Given the description of an element on the screen output the (x, y) to click on. 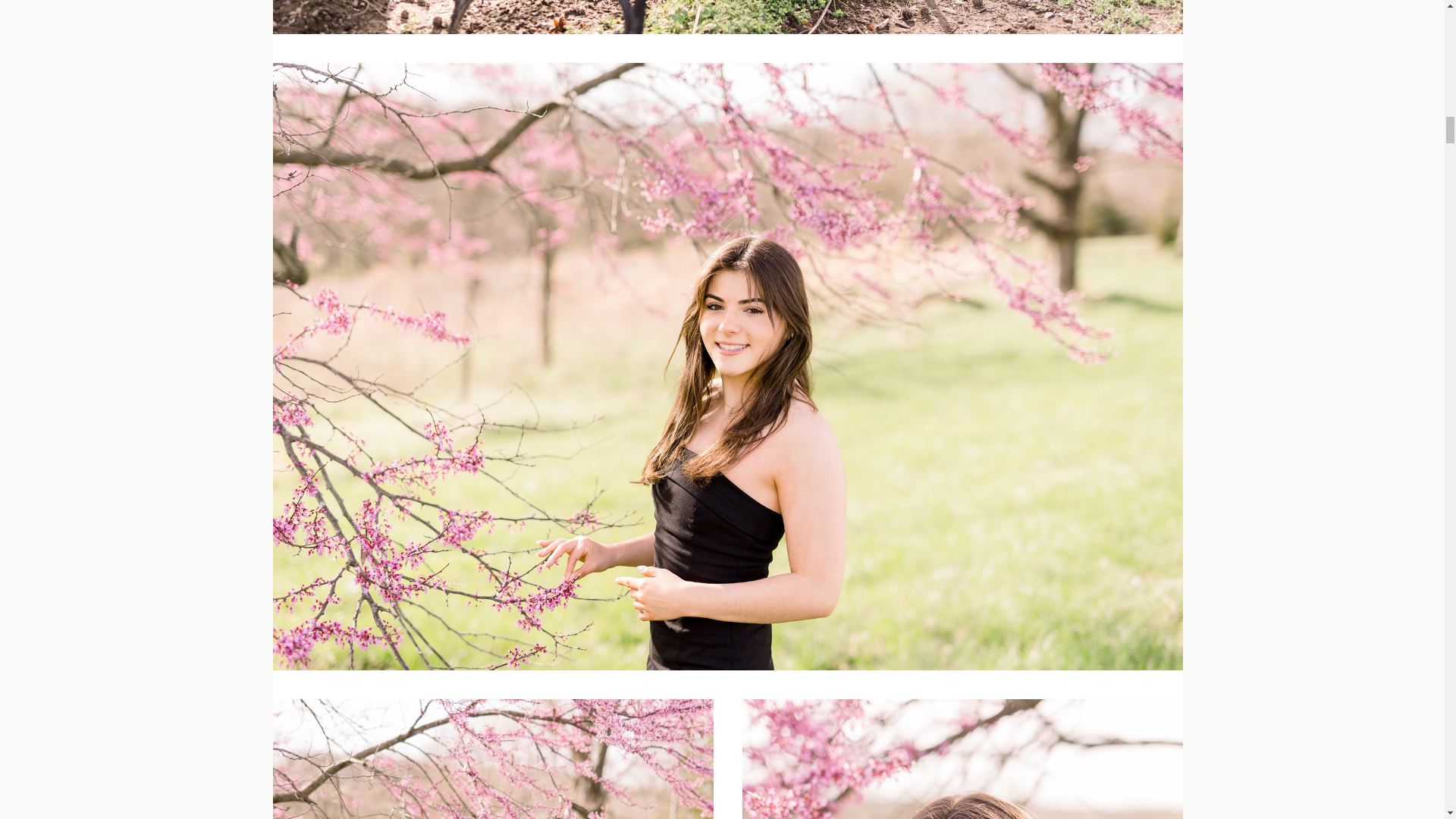
Nashville Senior Photography (727, 17)
Nashville Senior Photography (493, 759)
Nashville Senior Photography (962, 759)
